Given the description of an element on the screen output the (x, y) to click on. 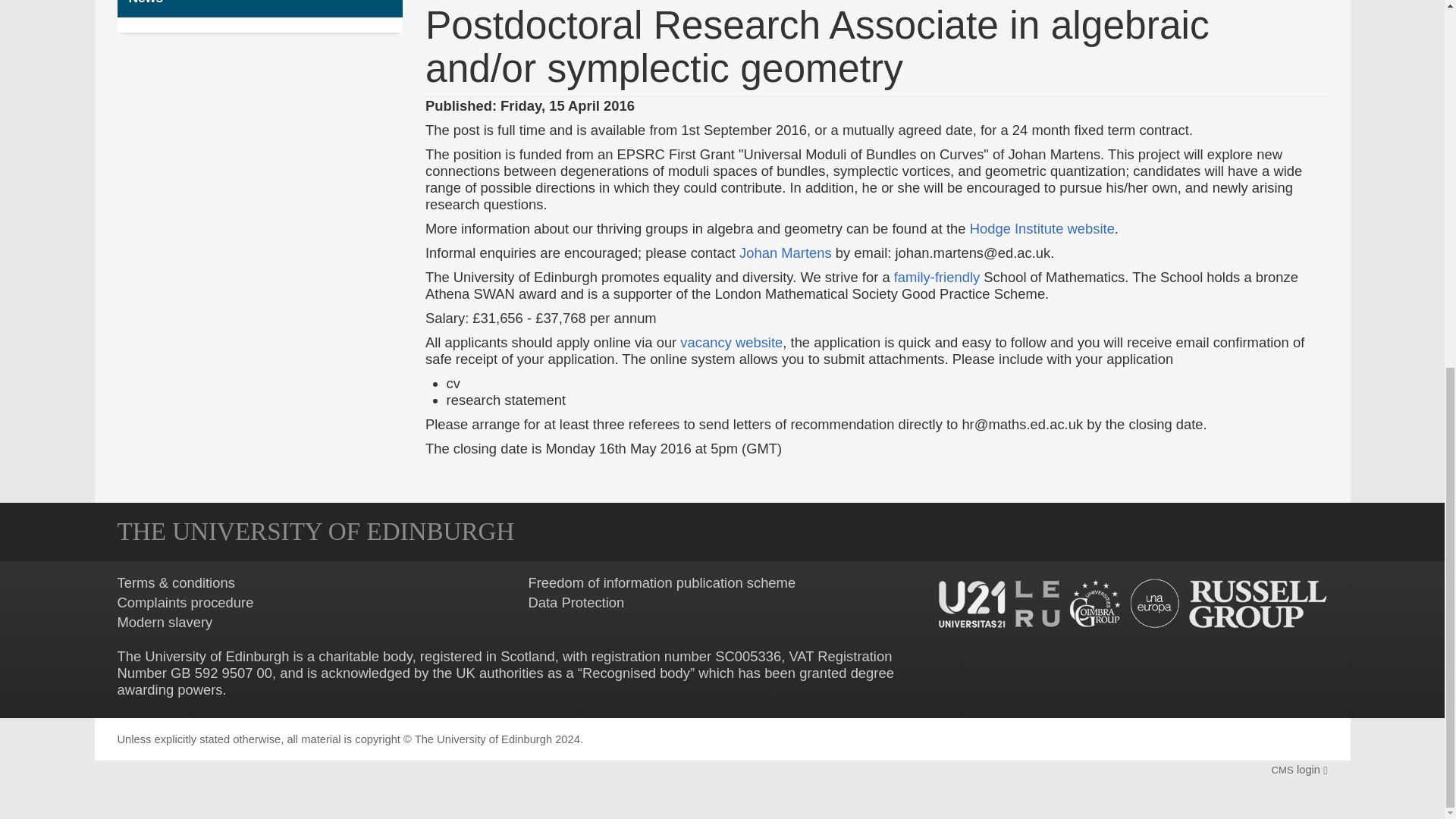
Modern slavery (164, 621)
Recognised body (636, 672)
News (259, 8)
Hodge Institute website (1042, 228)
vacancy website (731, 342)
family-friendly (936, 277)
Johan Martens (785, 252)
Freedom of information publication scheme (660, 582)
CMS login (1298, 769)
Data Protection (575, 602)
Complaints procedure (184, 602)
